Given the description of an element on the screen output the (x, y) to click on. 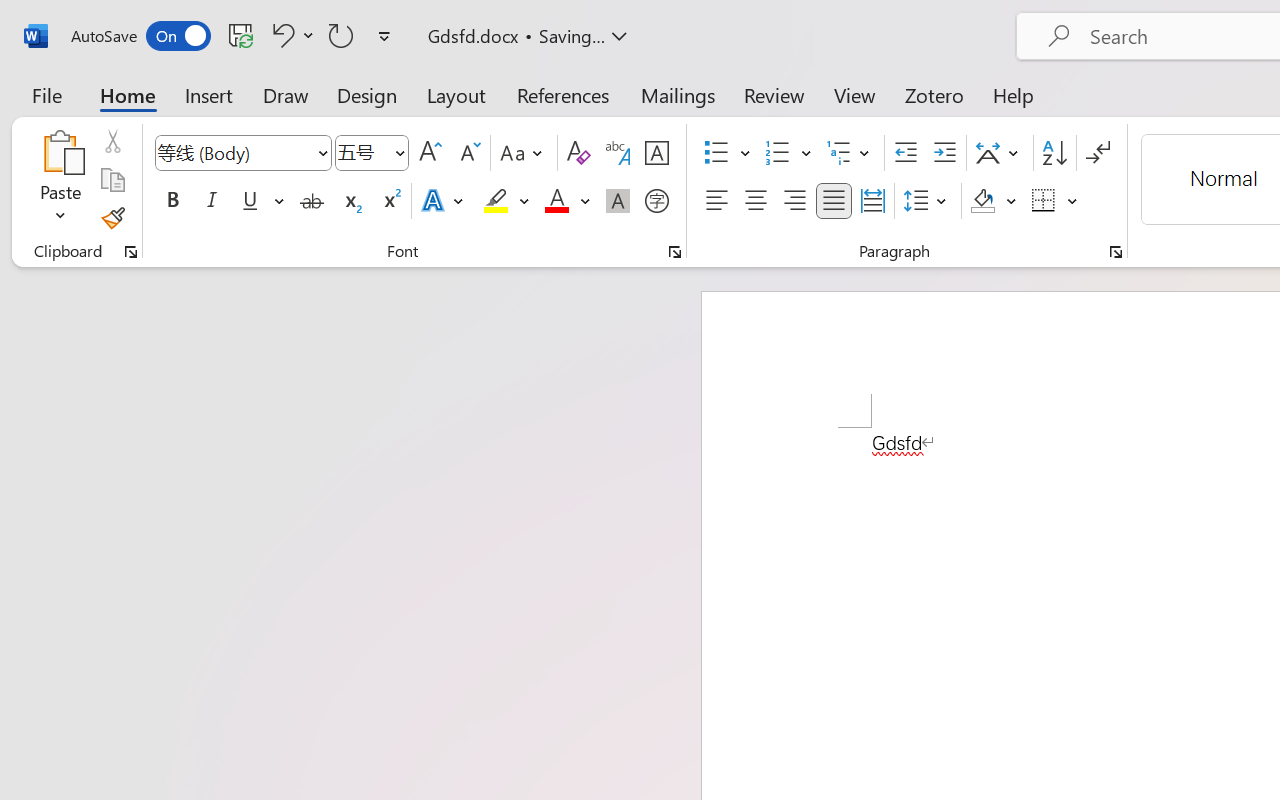
Text Highlight Color Yellow (495, 201)
